Given the description of an element on the screen output the (x, y) to click on. 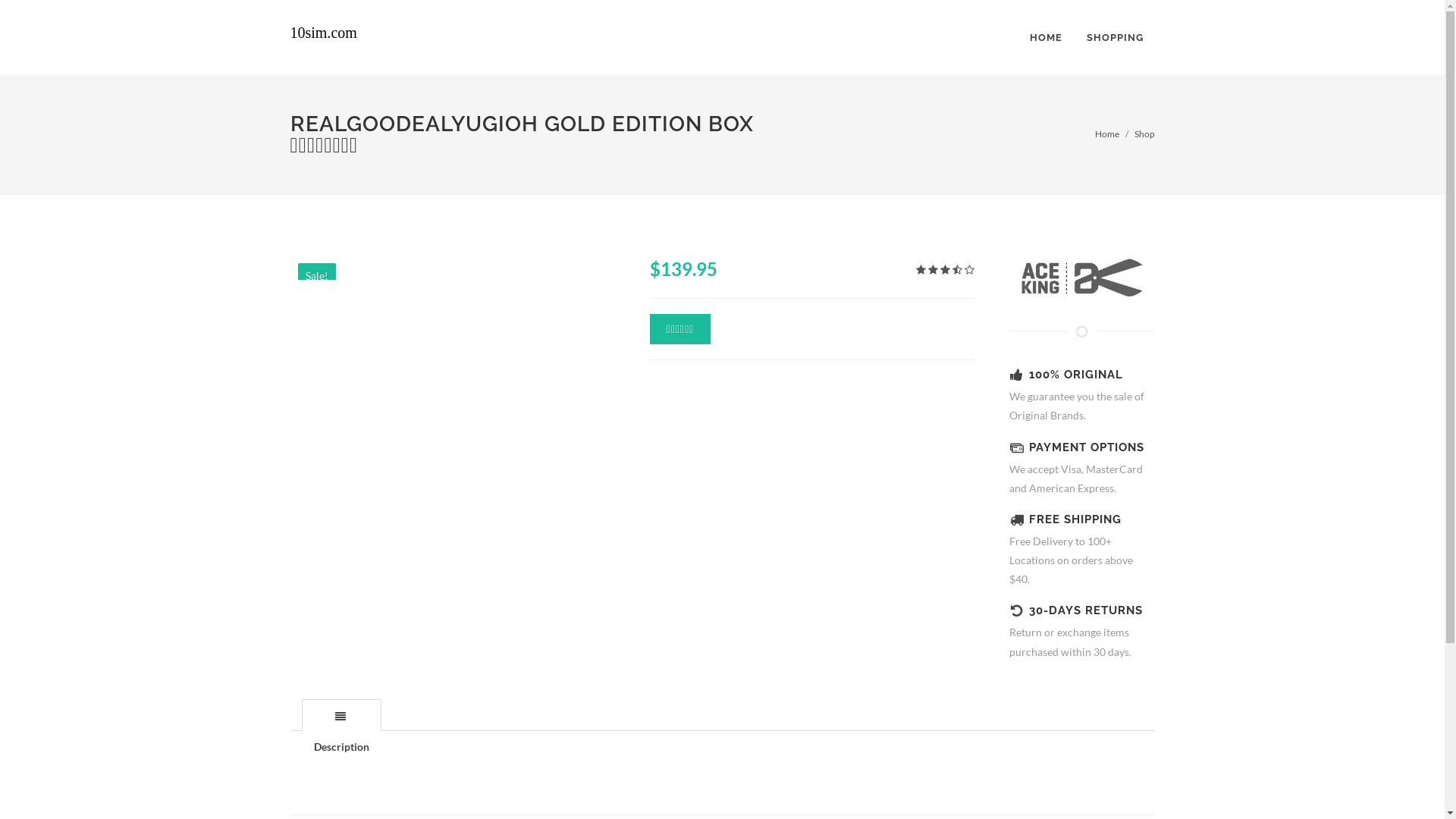
Shop Element type: text (1144, 133)
Description Element type: text (340, 715)
Home Element type: text (1107, 133)
HOME Element type: text (1045, 37)
10sim.com Element type: text (336, 37)
Brand Logo Element type: hover (1081, 276)
SHOPPING Element type: text (1114, 37)
